Given the description of an element on the screen output the (x, y) to click on. 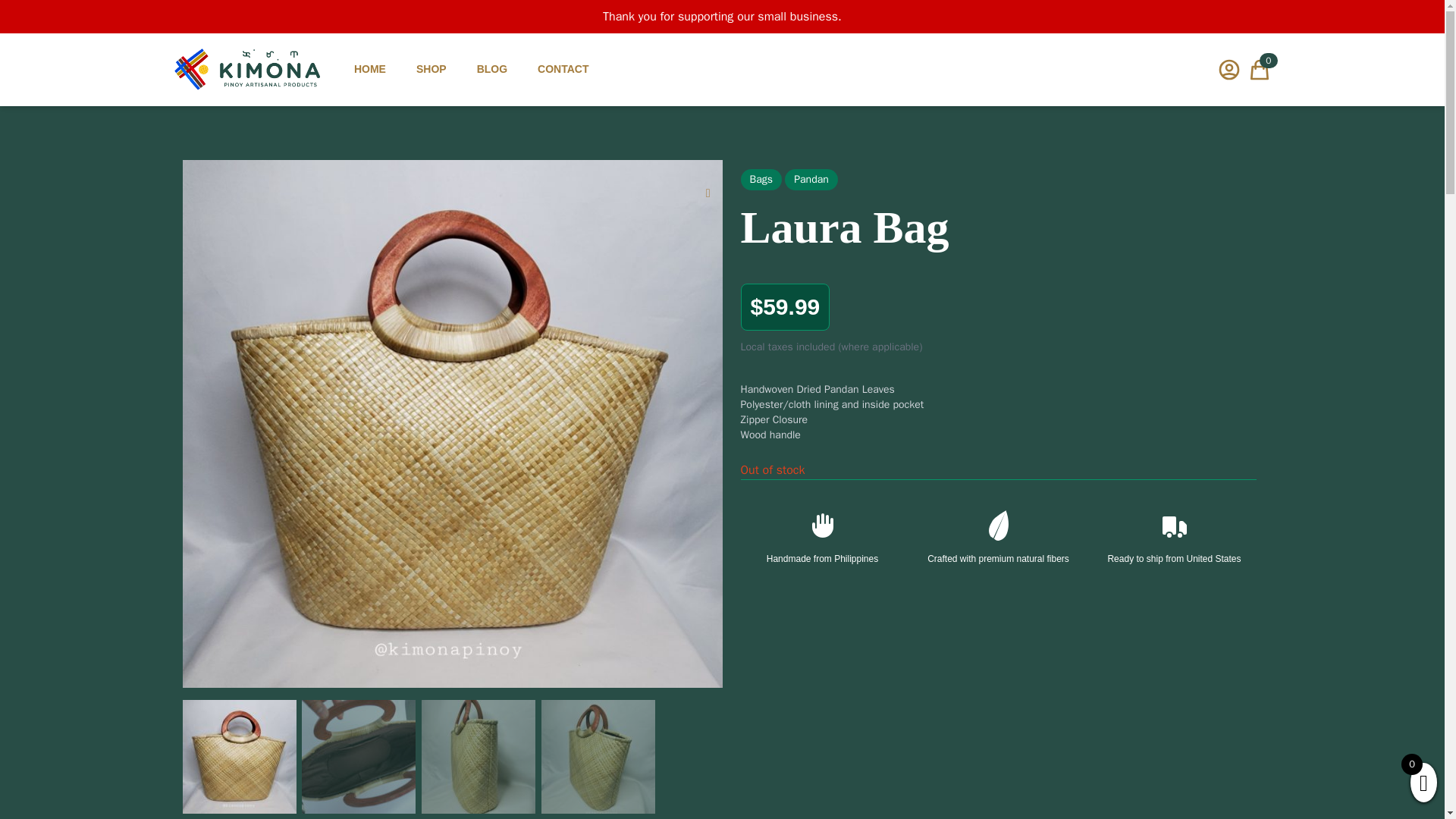
BLOG (491, 69)
Pandan (811, 179)
CONTACT (562, 69)
0 (1258, 69)
Bags (760, 179)
SHOP (431, 69)
Bags Tag (760, 179)
HOME (369, 69)
Pandan Tag (811, 179)
